Given the description of an element on the screen output the (x, y) to click on. 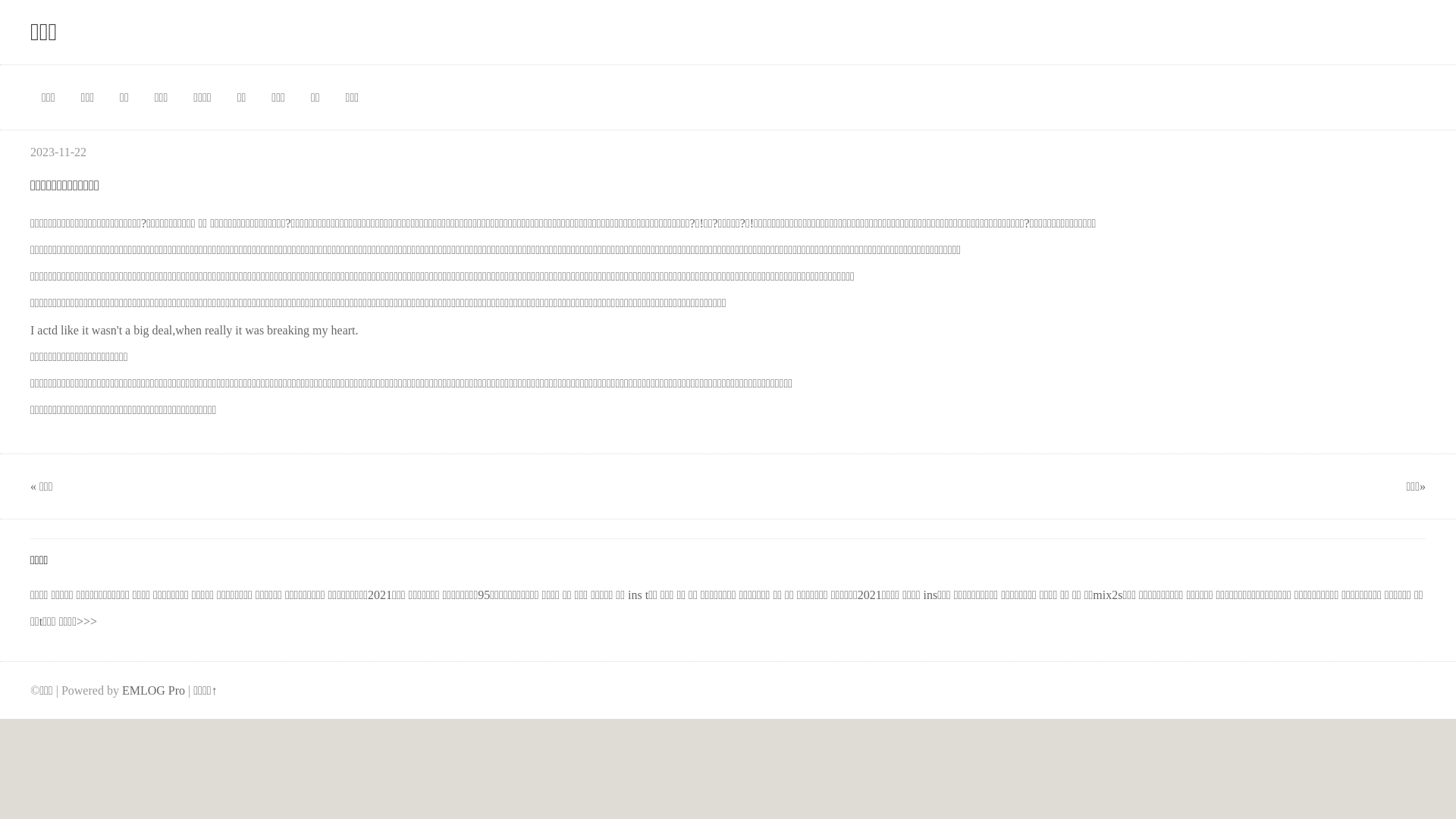
2023-11-22 Element type: text (58, 151)
EMLOG Pro Element type: text (153, 690)
